Given the description of an element on the screen output the (x, y) to click on. 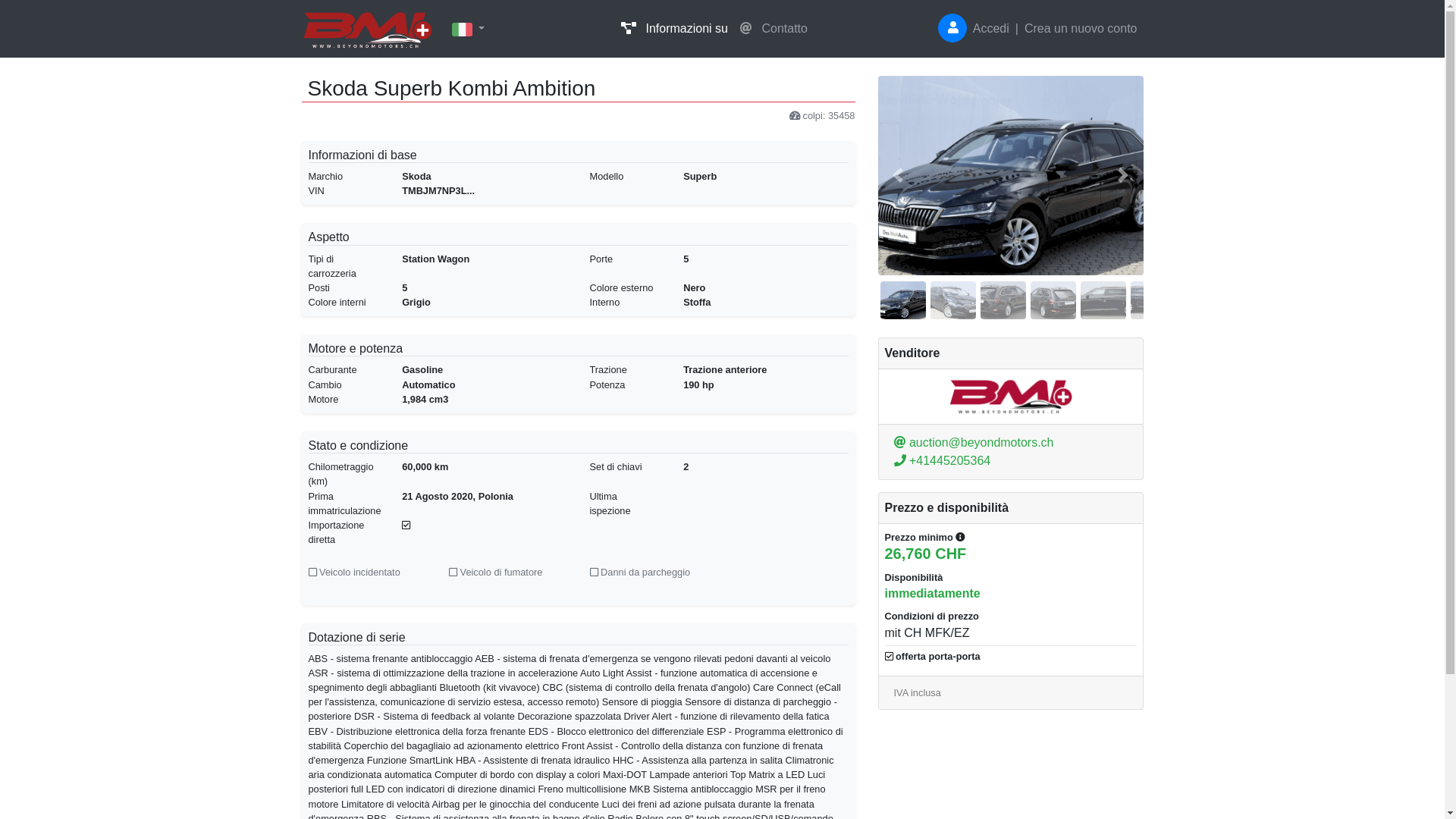
auction@beyondmotors.ch Element type: text (973, 442)
+41445205364 Element type: text (941, 460)
Accedi Element type: text (990, 28)
Precedente Element type: text (898, 175)
Contatto Element type: text (773, 28)
Avanti Element type: text (1123, 175)
Crea un nuovo conto Element type: text (1080, 28)
Informazioni su Element type: text (674, 28)
